Given the description of an element on the screen output the (x, y) to click on. 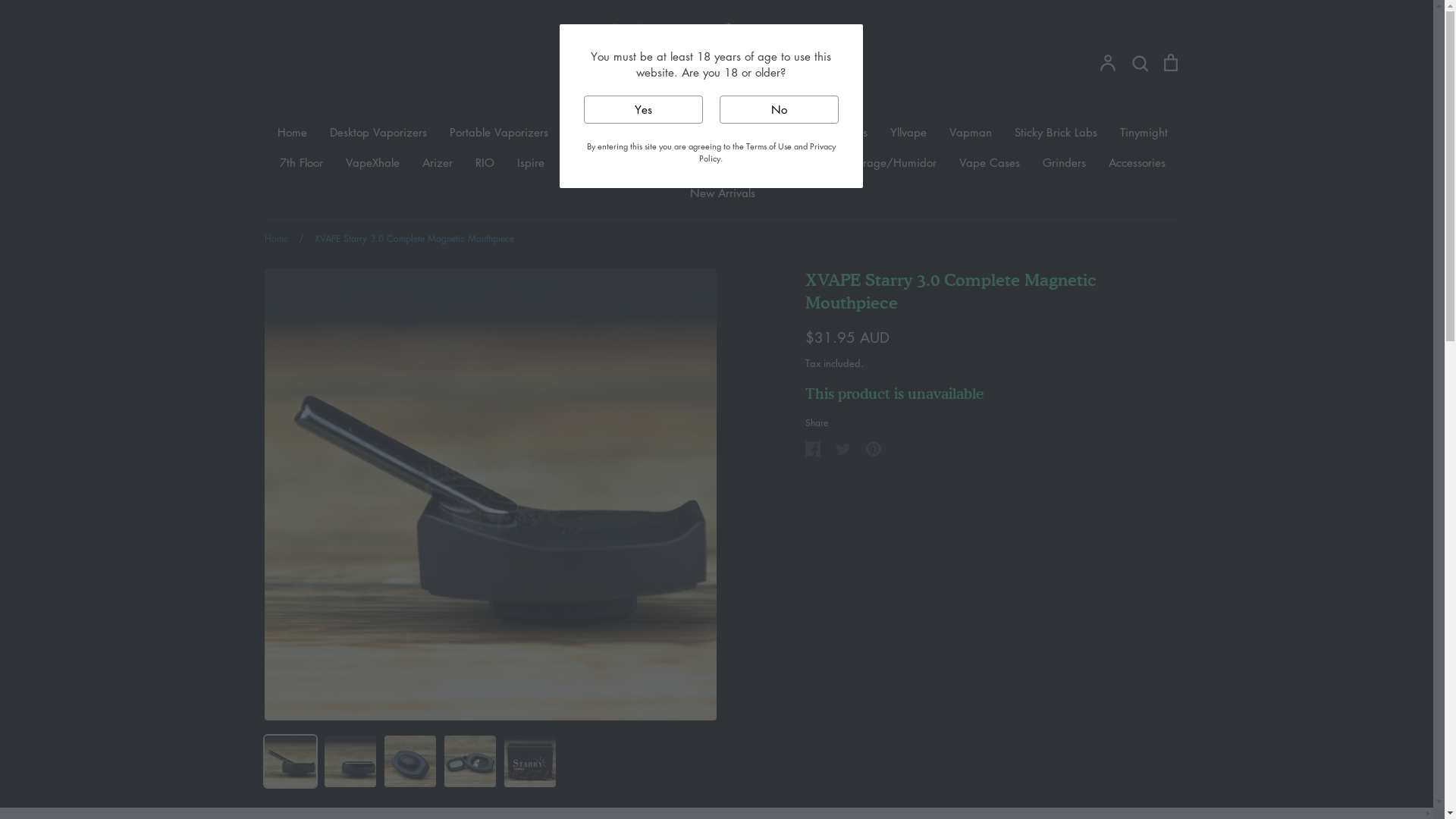
Sticky Brick Labs Element type: text (1055, 131)
Yllvape Element type: text (908, 131)
Home Element type: text (275, 238)
VapeXhale Element type: text (372, 161)
New Arrivals Element type: text (722, 192)
Pin it Element type: text (873, 448)
/ XVAPE Starry 3.0 Complete Magnetic Mouthpiece Element type: text (402, 238)
RIO Element type: text (483, 161)
Old Head Element type: text (756, 131)
Portable Vaporizers Element type: text (497, 131)
Storz & Bickel Element type: text (674, 131)
Share on Twitter Element type: text (843, 448)
Yes Element type: text (642, 109)
DynaVap Element type: text (593, 131)
Accessories Element type: text (1136, 161)
Account Element type: text (1107, 61)
Healthy Rips Element type: text (836, 131)
Cart Element type: text (1169, 61)
Vaporizer parts Element type: text (785, 161)
Share on Facebook Element type: text (812, 448)
Desktop Vaporizers Element type: text (377, 131)
Grinders Element type: text (1063, 161)
Tinymight Element type: text (1143, 131)
All Products Element type: text (694, 161)
Arizer Element type: text (436, 161)
Vape Cases Element type: text (988, 161)
7th Floor Element type: text (300, 161)
No Element type: text (777, 109)
Home Element type: text (292, 131)
Storage/Humidor Element type: text (891, 161)
Ispire Element type: text (530, 161)
Search Element type: text (1139, 61)
Vapman Element type: text (970, 131)
XVAPE / XMAX Element type: text (605, 161)
